Given the description of an element on the screen output the (x, y) to click on. 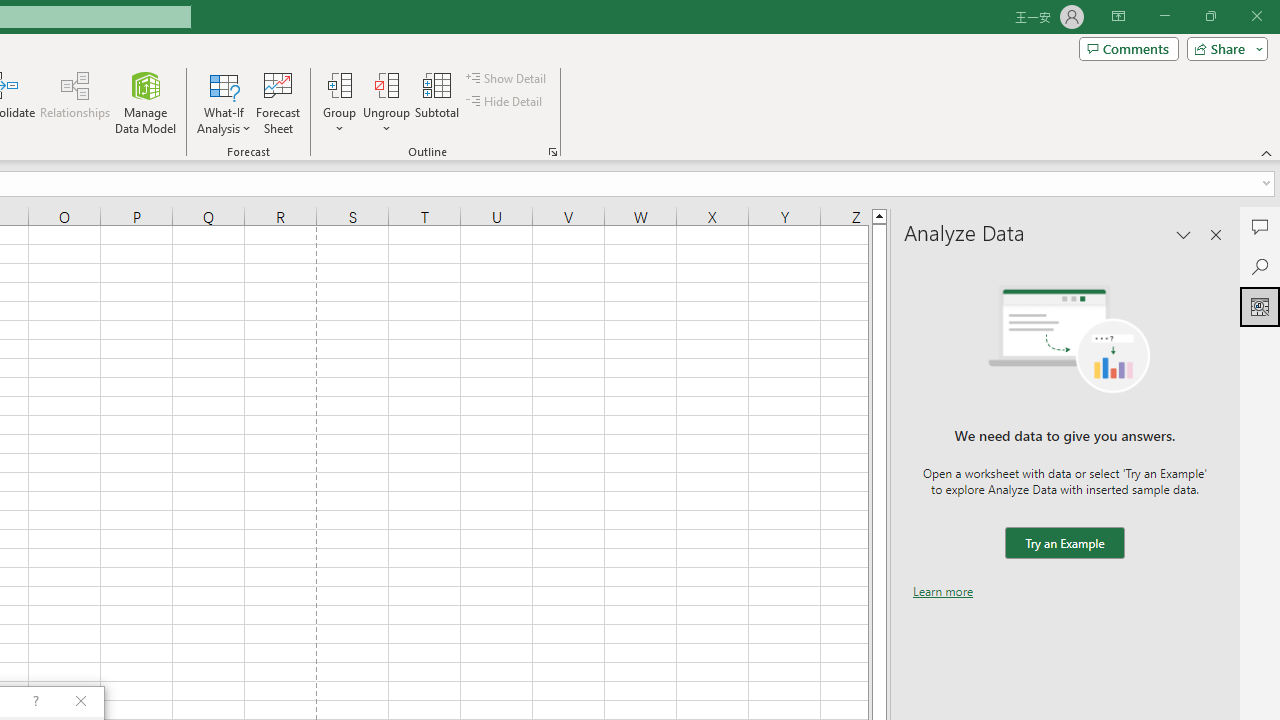
Relationships (75, 102)
Manage Data Model (145, 102)
Hide Detail (505, 101)
What-If Analysis (223, 102)
Forecast Sheet (278, 102)
